Given the description of an element on the screen output the (x, y) to click on. 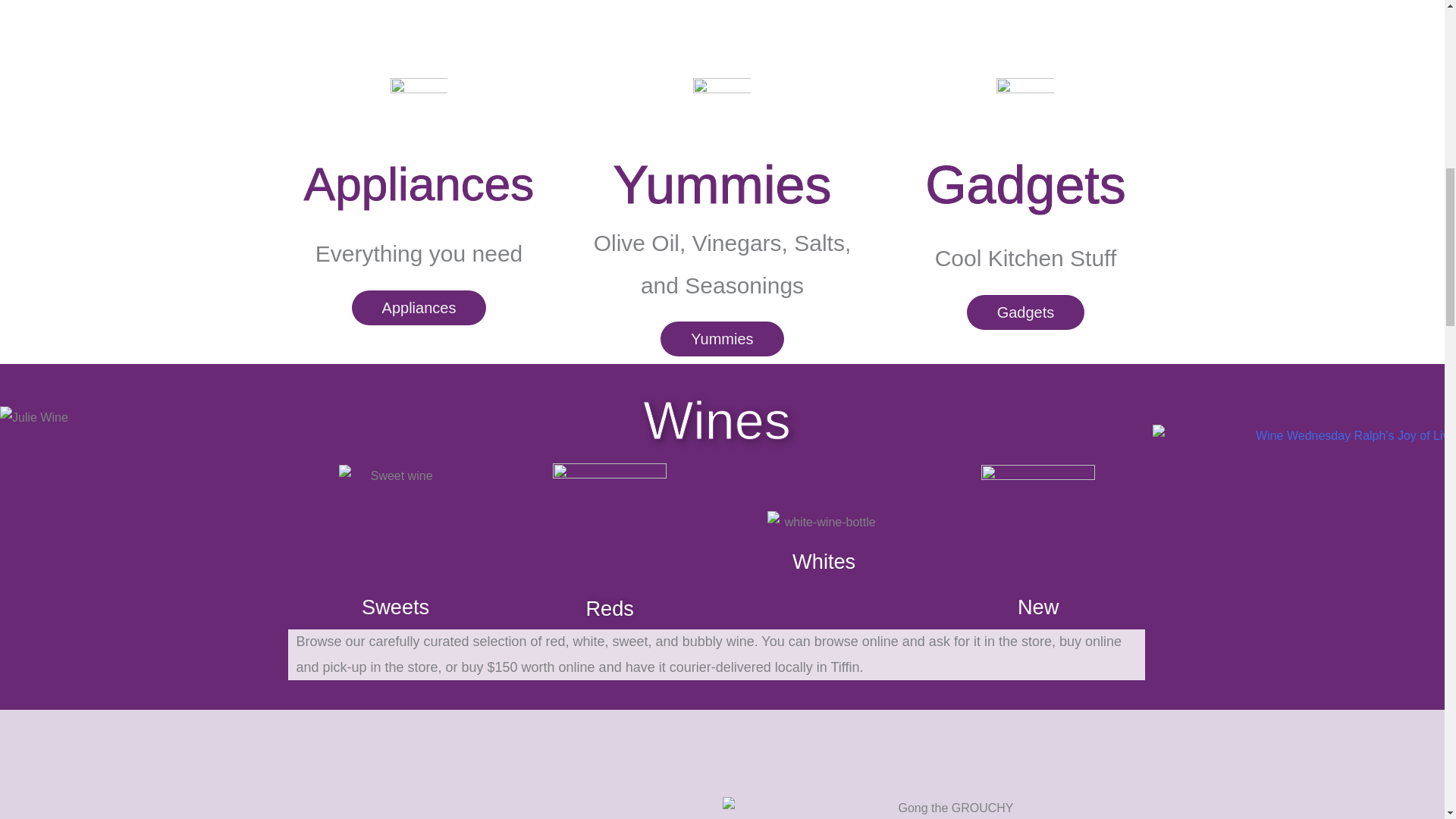
Appliances (419, 307)
Sweets (395, 607)
Reds (609, 608)
white-wine-bottle (823, 522)
New (1037, 607)
Yummies (722, 338)
Whites (824, 561)
Gadgets (1025, 312)
